Given the description of an element on the screen output the (x, y) to click on. 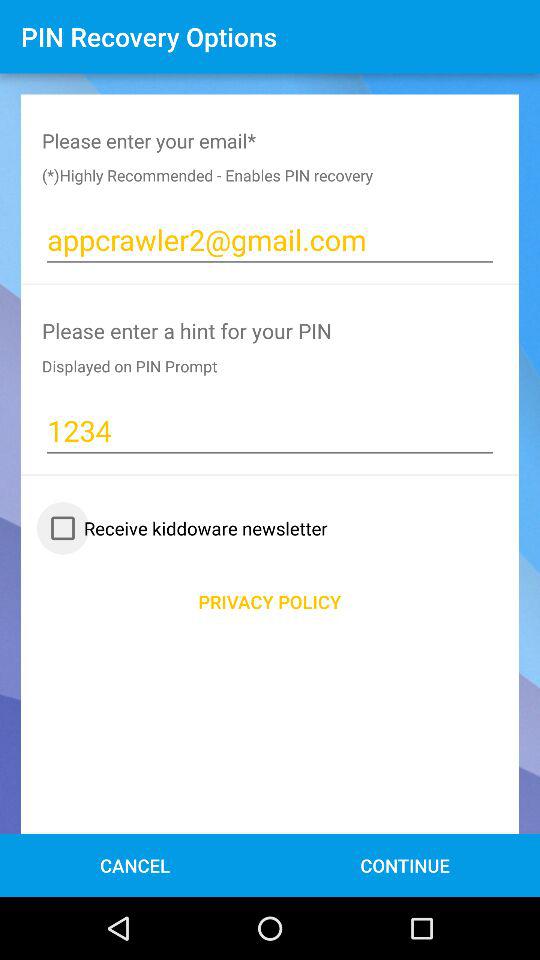
choose the icon to the right of cancel item (404, 864)
